Given the description of an element on the screen output the (x, y) to click on. 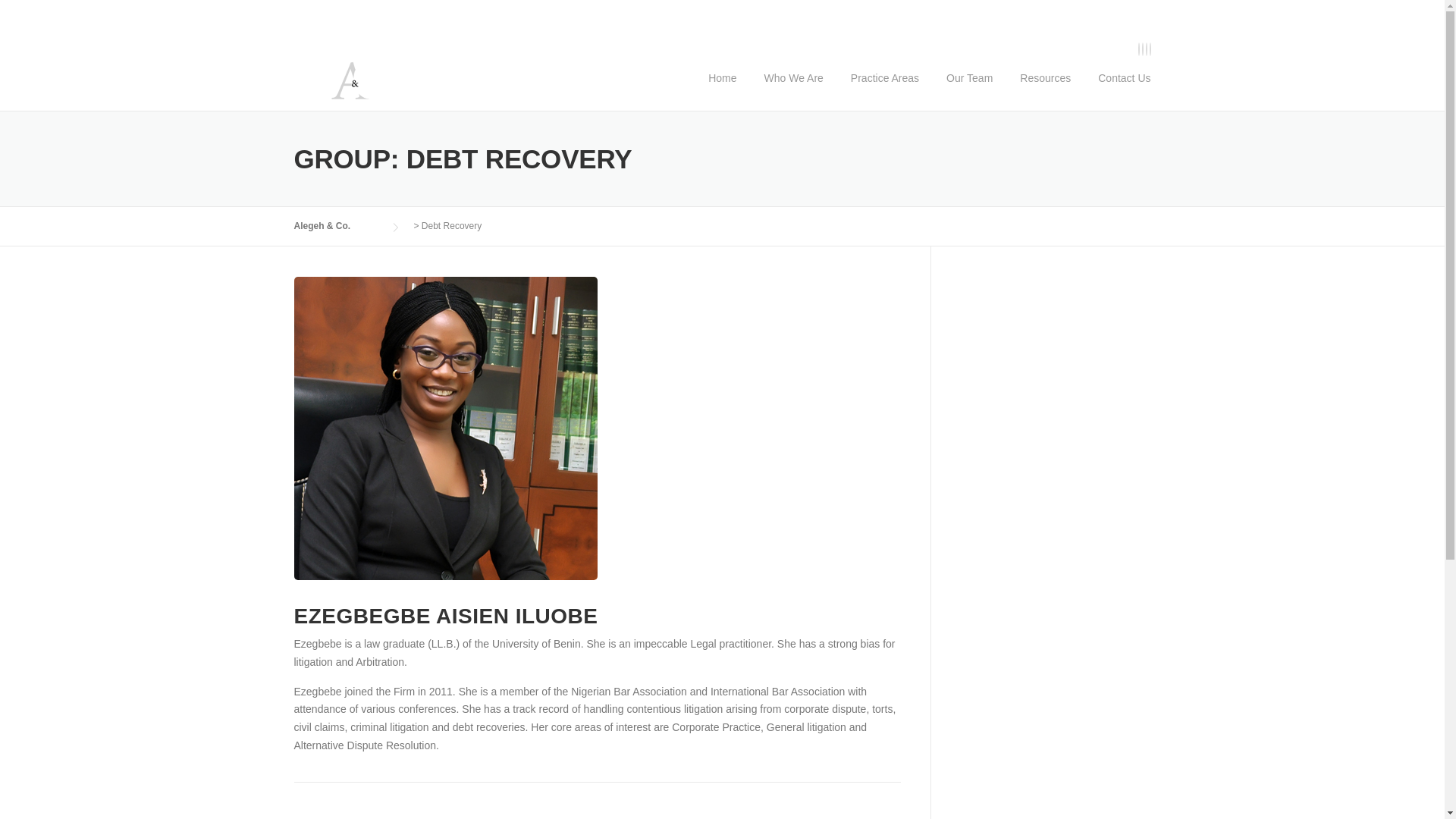
Contact Us (1117, 89)
EZEGBEGBE AISIEN ILUOBE (446, 616)
Who We Are (794, 89)
Home (721, 89)
Practice Areas (885, 89)
Our Team (969, 89)
Resources (1045, 89)
